Given the description of an element on the screen output the (x, y) to click on. 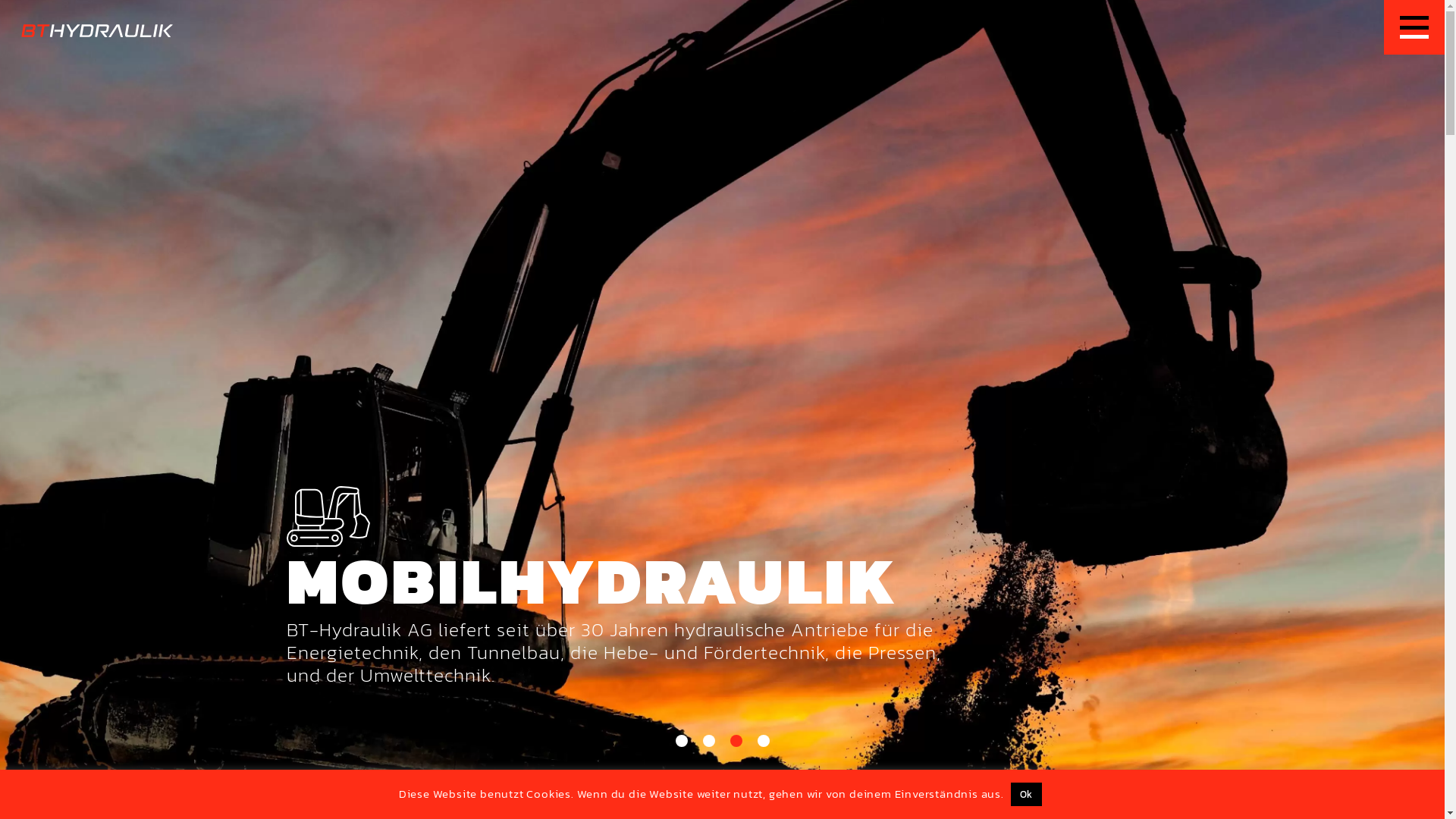
Ok Element type: text (1026, 794)
